Given the description of an element on the screen output the (x, y) to click on. 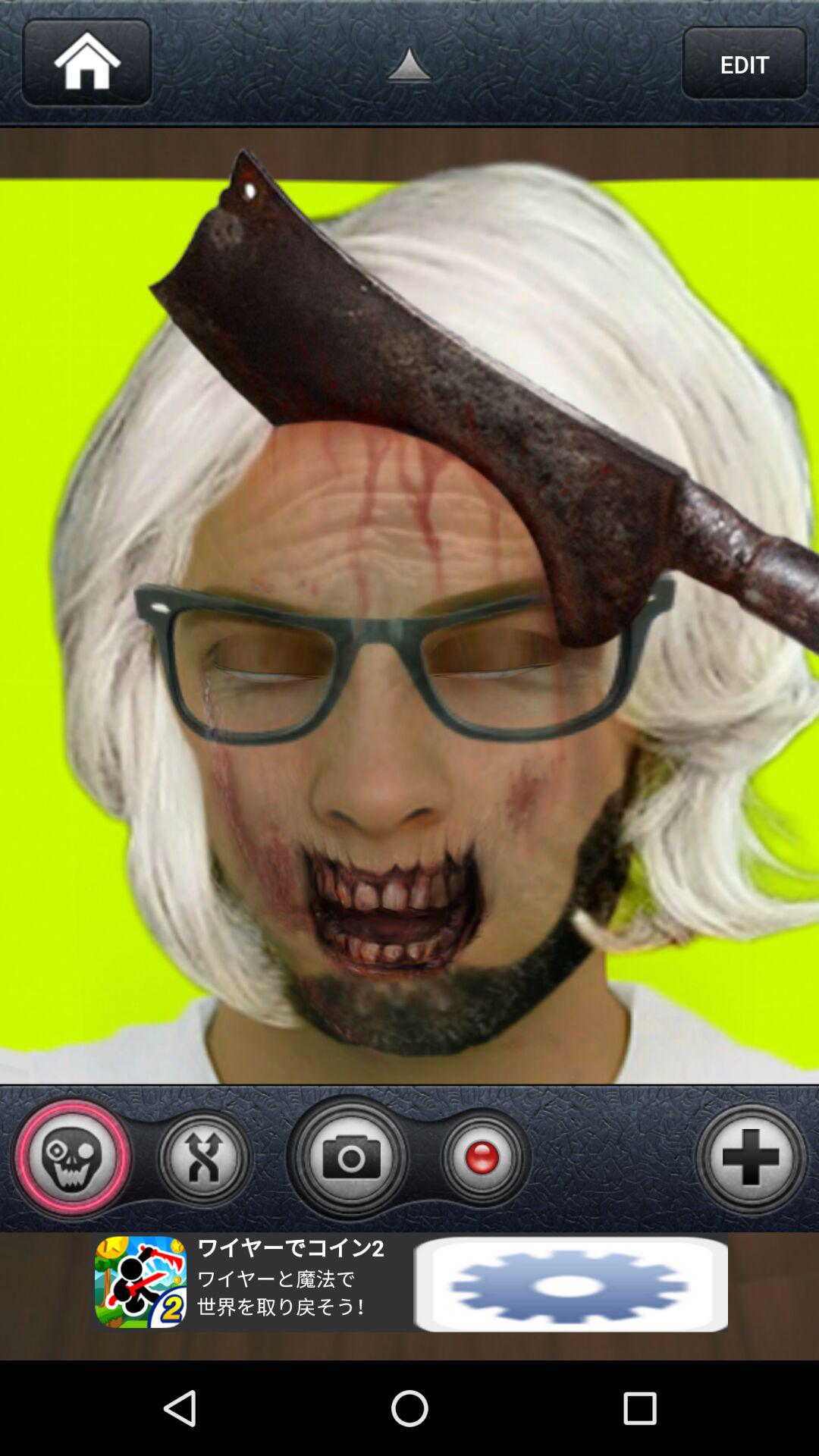
advertisement (409, 1282)
